Given the description of an element on the screen output the (x, y) to click on. 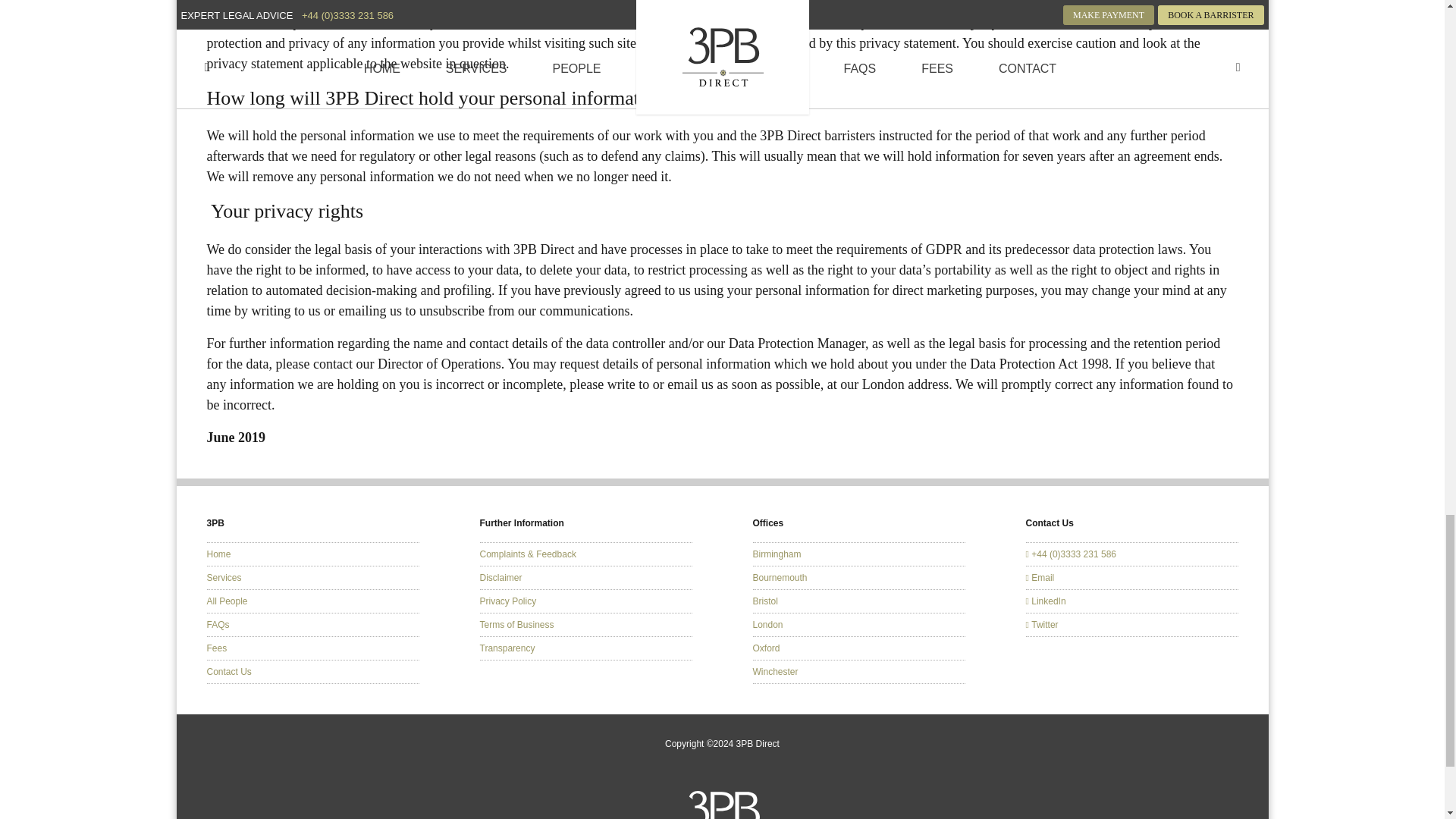
Home (218, 553)
Privacy Policy (507, 601)
Terms of Business (516, 624)
Transparency (506, 647)
Disclaimer (500, 577)
All People (226, 601)
Fees (216, 647)
Services (223, 577)
Contact Us (228, 671)
FAQs (217, 624)
